Given the description of an element on the screen output the (x, y) to click on. 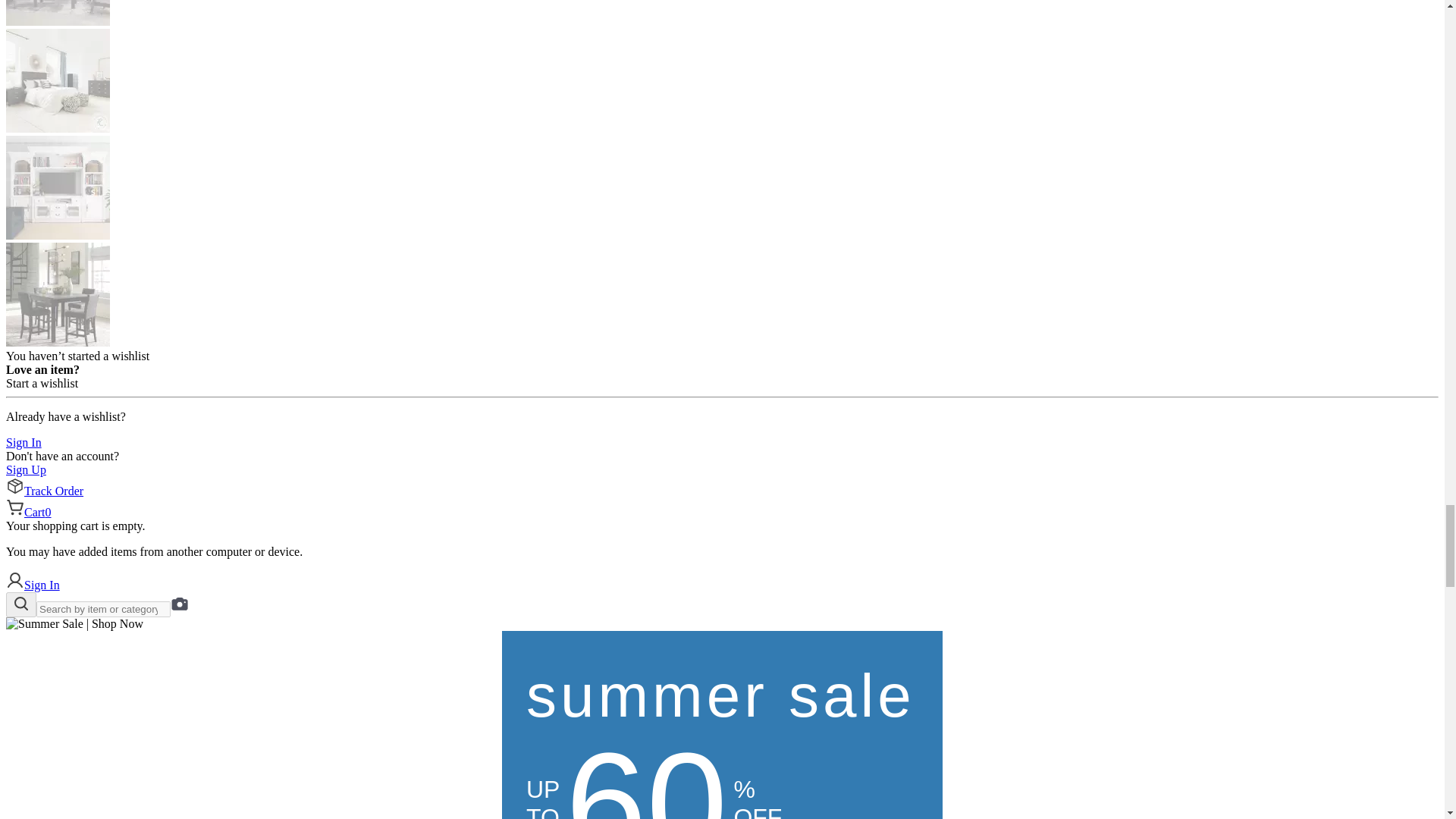
Search Button (20, 604)
